Given the description of an element on the screen output the (x, y) to click on. 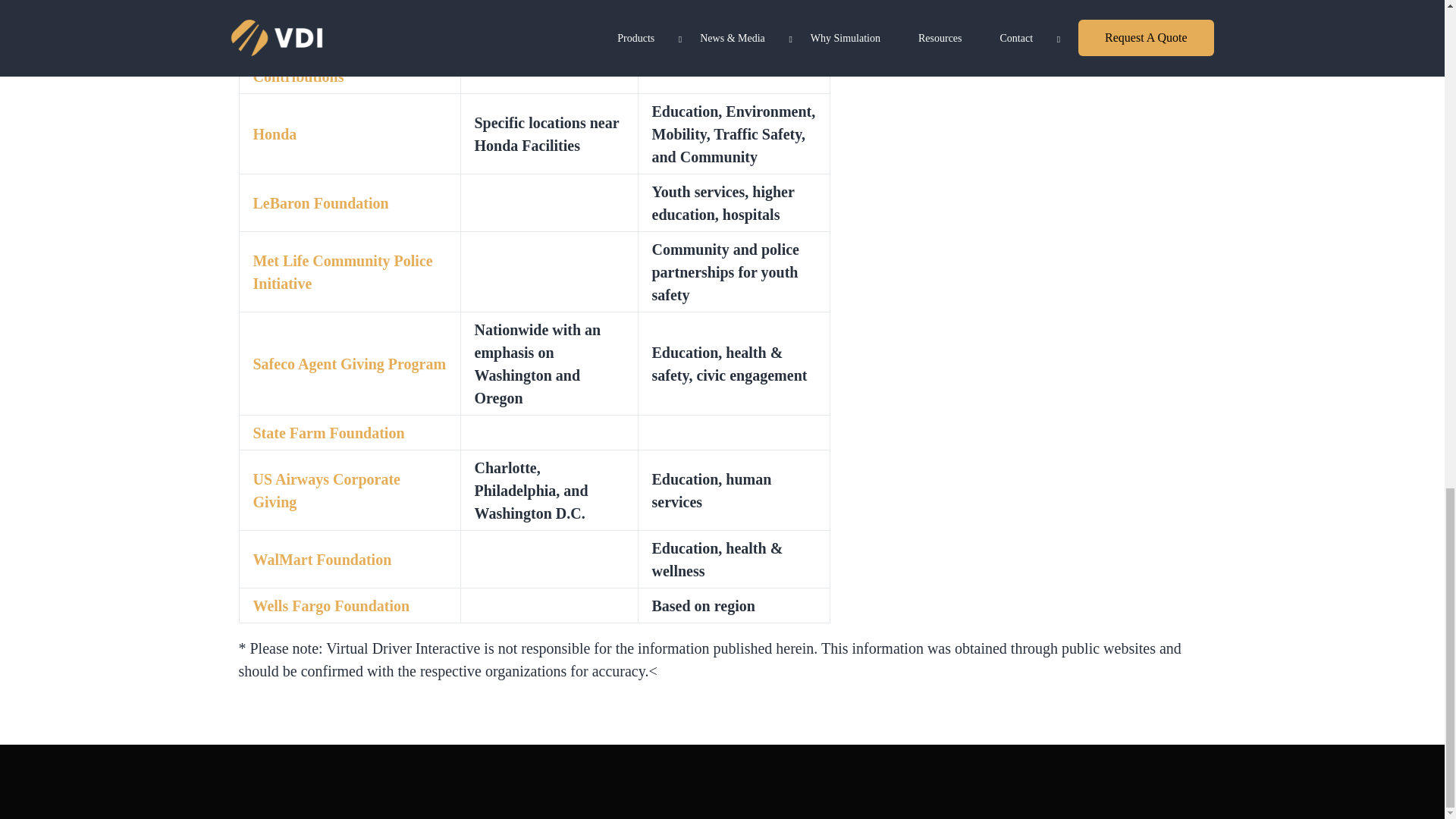
Wells Fargo Foundation (331, 605)
Farmers Insurance (315, 2)
Met Life Community Police Initiative (342, 271)
Honda (275, 134)
FedEx Charitable Contributions (311, 65)
LeBaron Foundation (320, 202)
State Farm Foundation (328, 433)
US Airways Corporate Giving (326, 490)
Safeco Agent Giving Program (349, 363)
WalMart Foundation (322, 559)
